Given the description of an element on the screen output the (x, y) to click on. 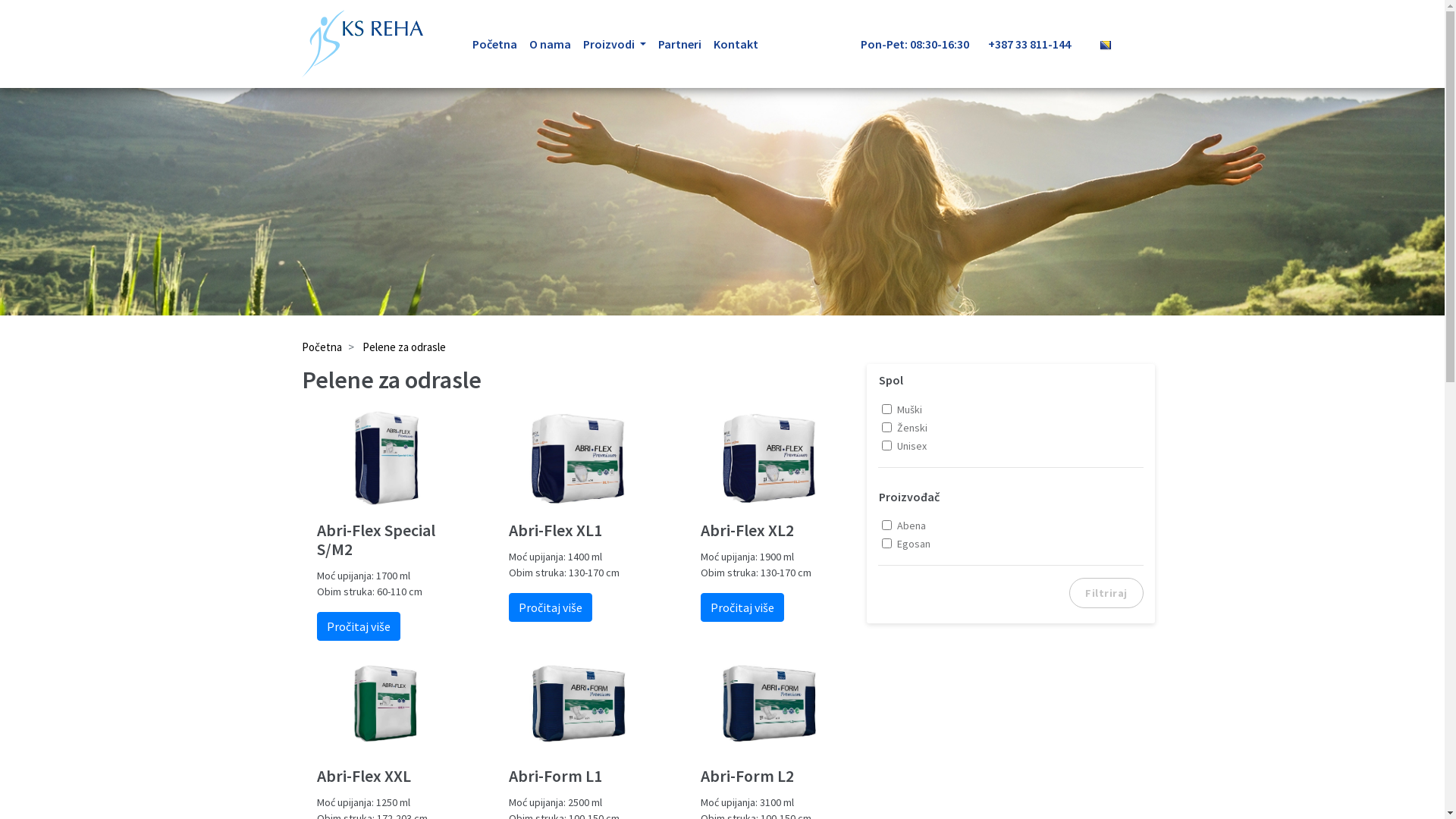
O nama Element type: text (550, 43)
+387 33 811-144 Element type: text (1037, 43)
Abri-Form L2 Element type: text (769, 775)
Partneri Element type: text (679, 43)
Proizvodi Element type: text (613, 43)
Filtriraj Element type: text (1106, 592)
Kontakt Element type: text (735, 43)
Abri-Flex Special S/M2 Element type: text (385, 539)
Abri-Flex XL2 Element type: text (769, 529)
Pon-Pet: 08:30-16:30 Element type: text (923, 43)
Abri-Flex XXL Element type: text (385, 775)
Abri-Form L1 Element type: text (577, 775)
Abri-Flex XL1 Element type: text (577, 529)
Pelene za odrasle Element type: text (403, 346)
Spol Element type: text (890, 380)
